Given the description of an element on the screen output the (x, y) to click on. 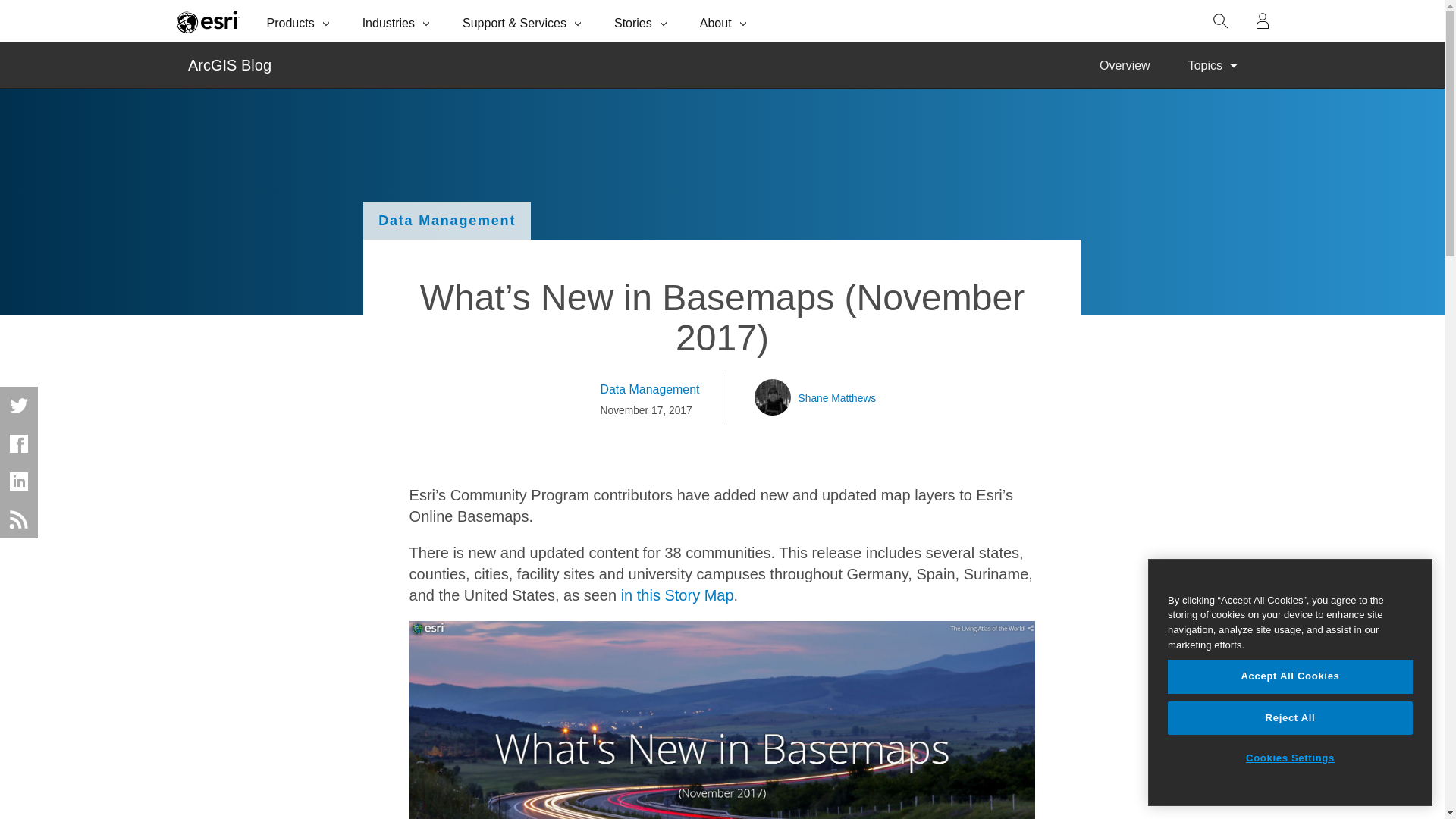
Products (299, 20)
Search (1220, 20)
Esri home page (208, 21)
Industries (396, 20)
Esri home page (208, 21)
Sign In (1262, 20)
Esri home page (208, 21)
